Given the description of an element on the screen output the (x, y) to click on. 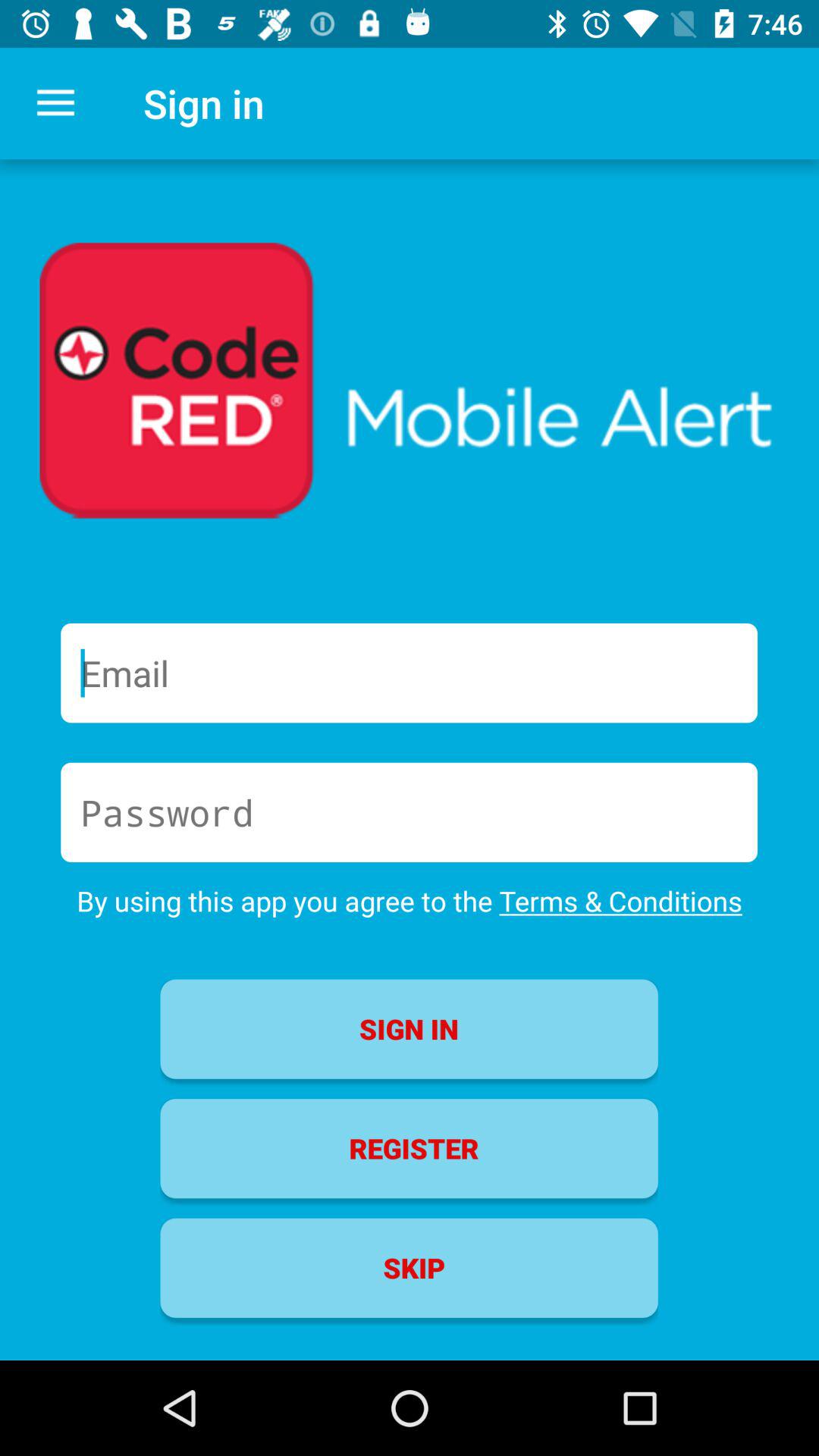
swipe to the by using this item (409, 900)
